Given the description of an element on the screen output the (x, y) to click on. 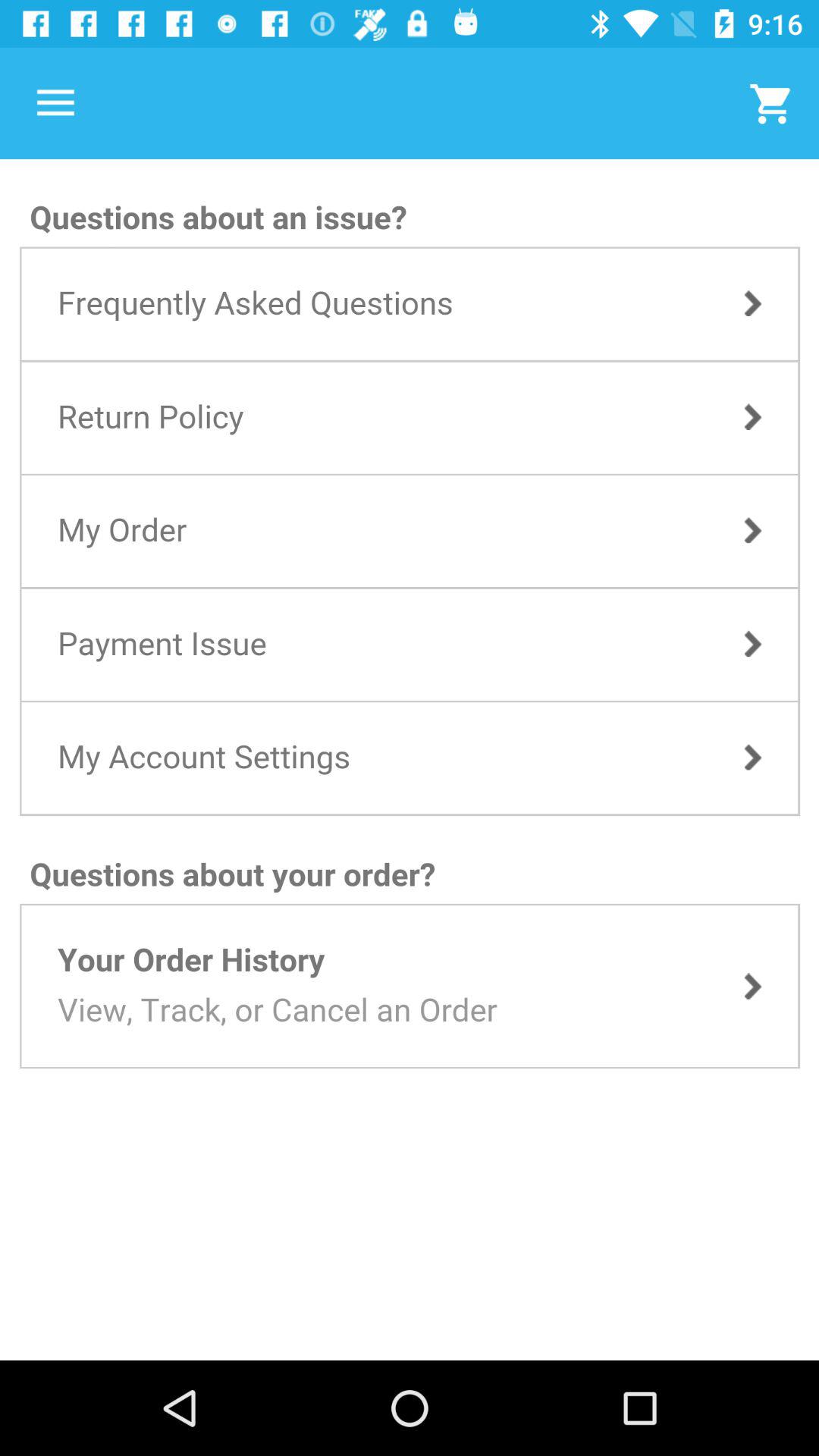
take me to the site (409, 759)
